Given the description of an element on the screen output the (x, y) to click on. 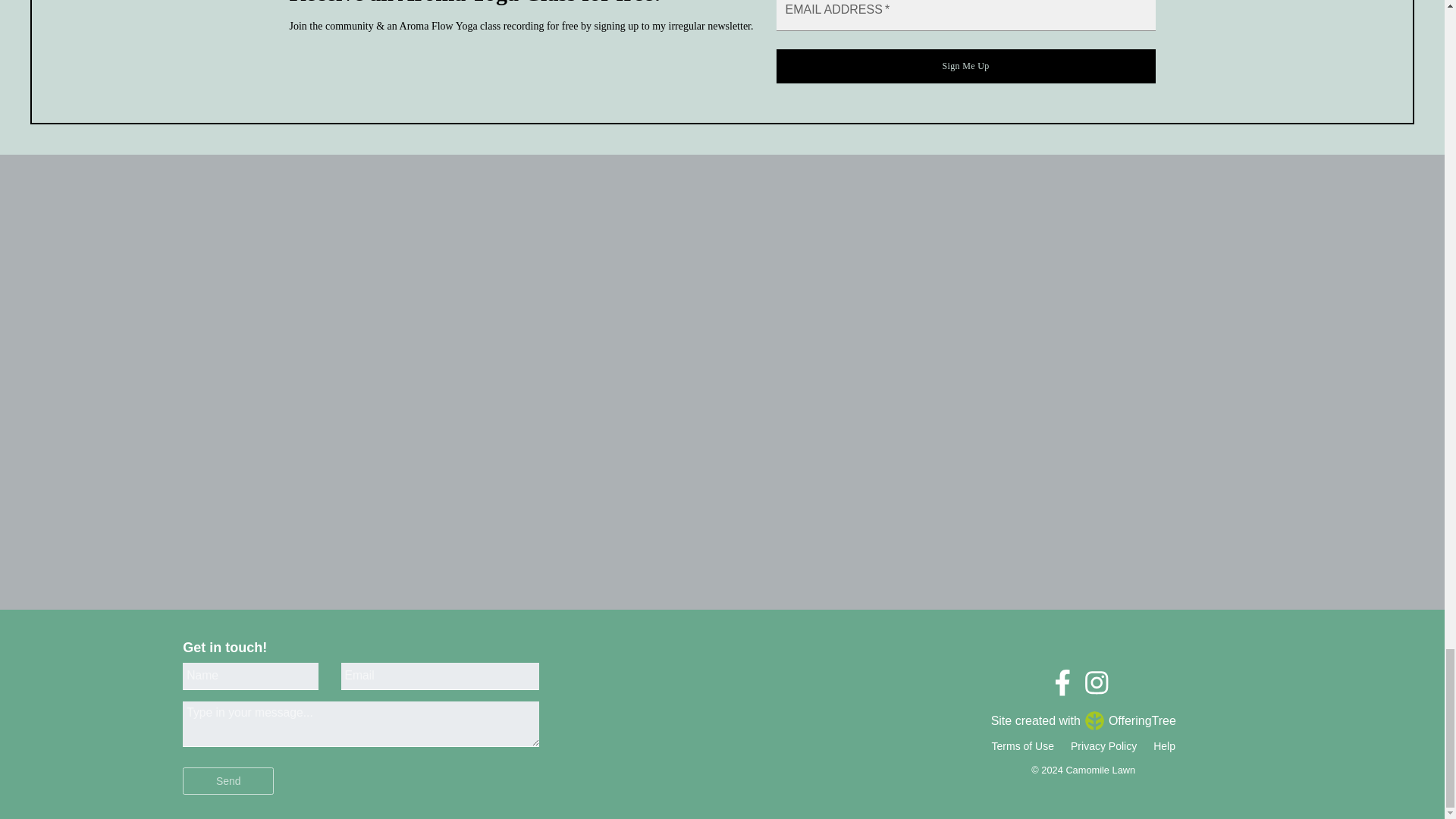
Help (1163, 746)
Send (228, 780)
Terms of Use (1023, 746)
Privacy Policy (1103, 746)
Sign Me Up (966, 66)
Site created withOfferingTree (1083, 721)
